Given the description of an element on the screen output the (x, y) to click on. 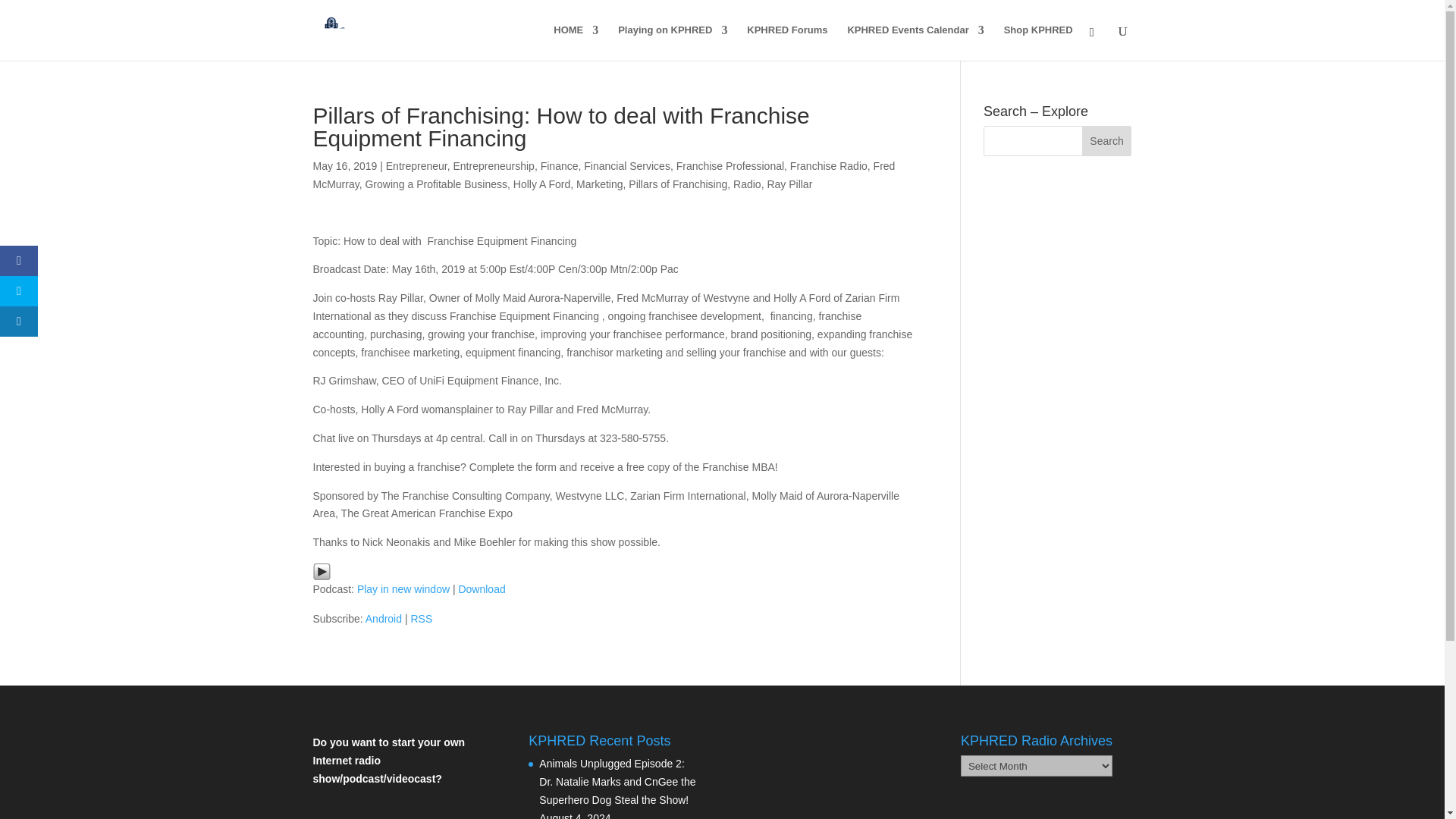
HOME (575, 42)
Subscribe on Android (383, 618)
Play (321, 571)
Search (1106, 141)
Play (321, 571)
Play in new window (402, 589)
Download (481, 589)
Playing on KPHRED (671, 42)
Subscribe via RSS (421, 618)
